Given the description of an element on the screen output the (x, y) to click on. 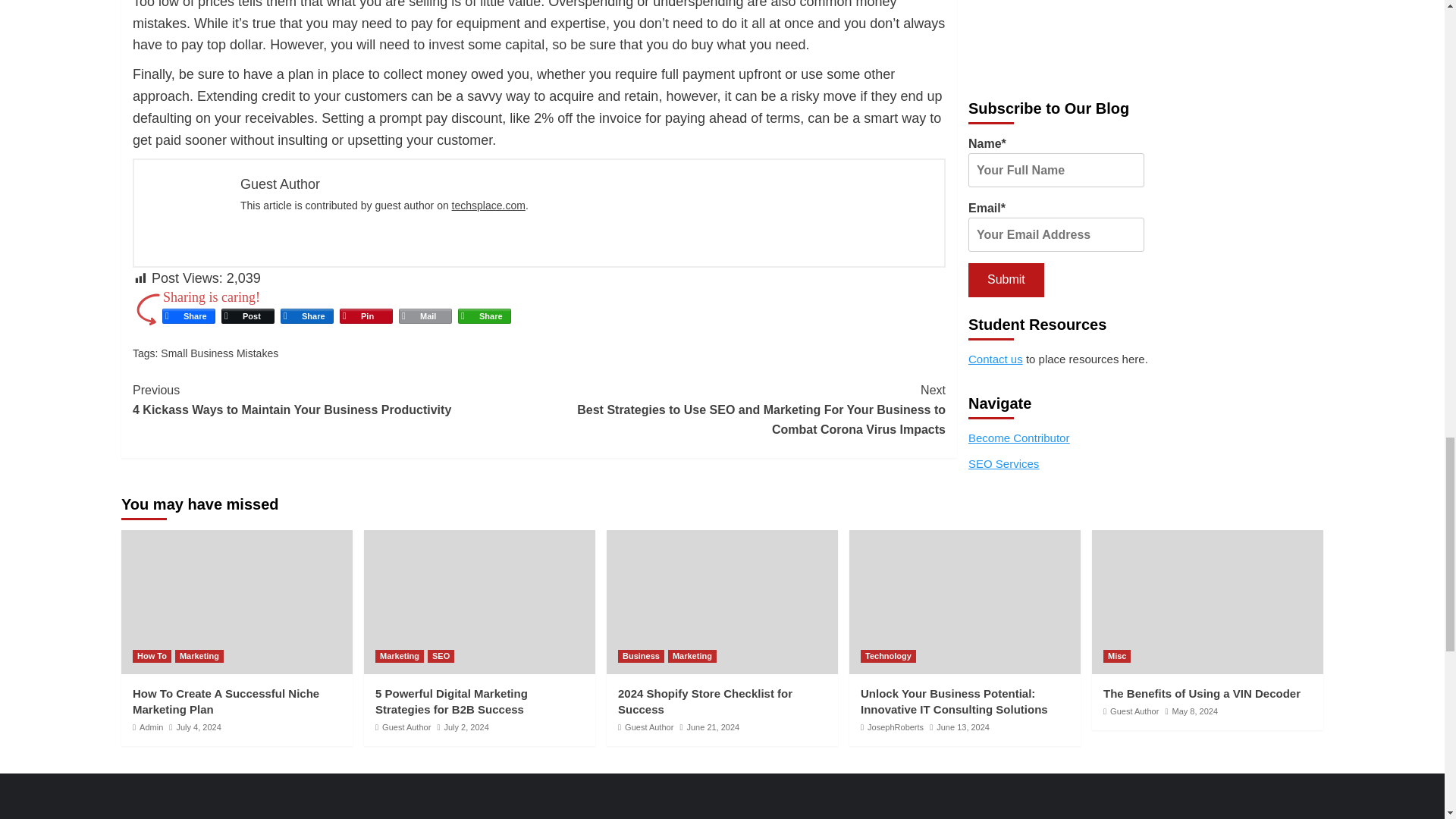
LinkedIn (307, 315)
Facebook (188, 315)
WhatsApp (483, 315)
Email This (425, 315)
Pinterest (366, 315)
